Given the description of an element on the screen output the (x, y) to click on. 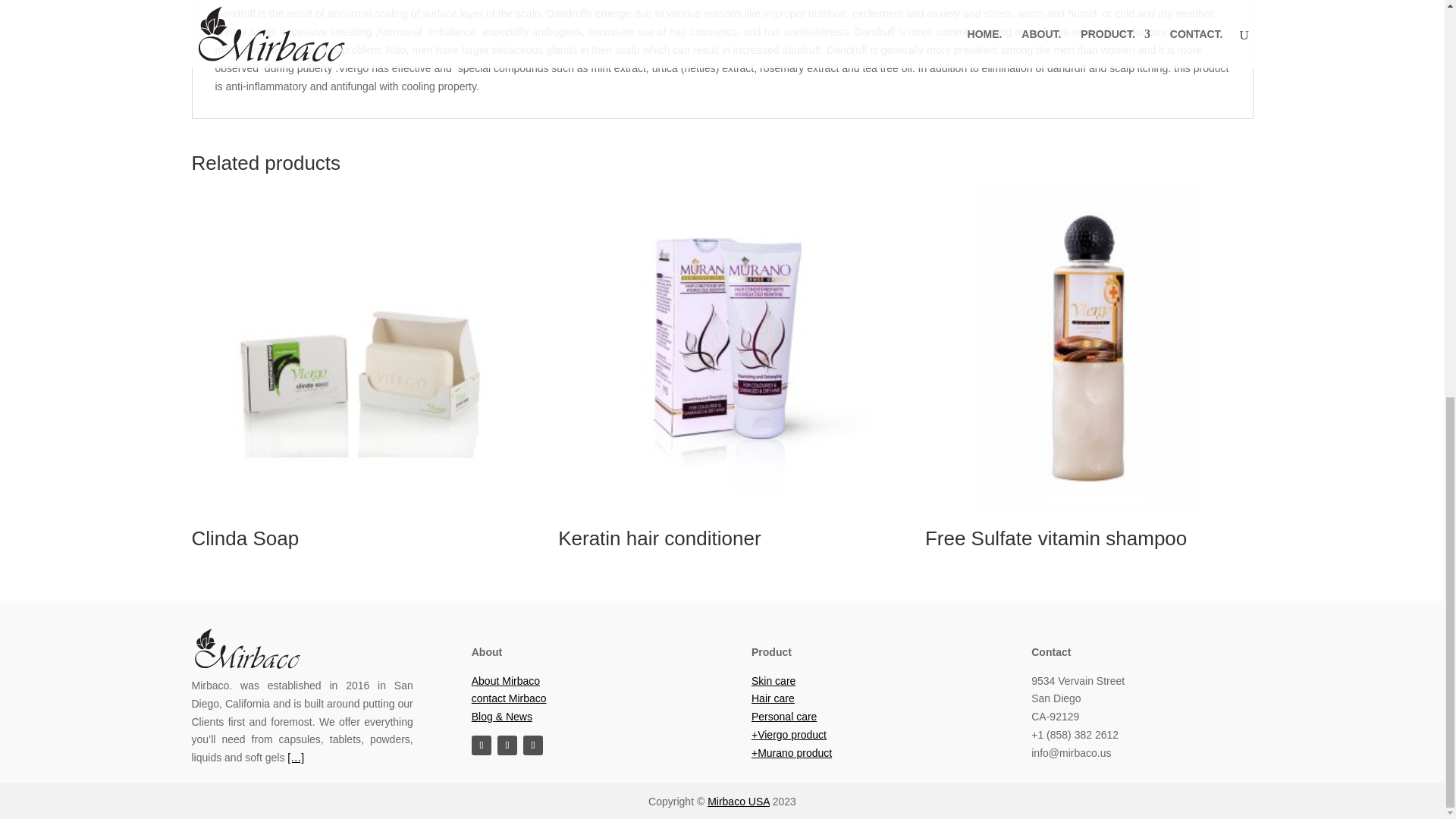
Follow on Instagram (481, 745)
About Mirbaco (505, 680)
Follow on LinkedIn (532, 745)
LOGO-3-01 (245, 648)
Skin care (772, 680)
Follow on Instagram (506, 745)
contact Mirbaco (509, 698)
